Given the description of an element on the screen output the (x, y) to click on. 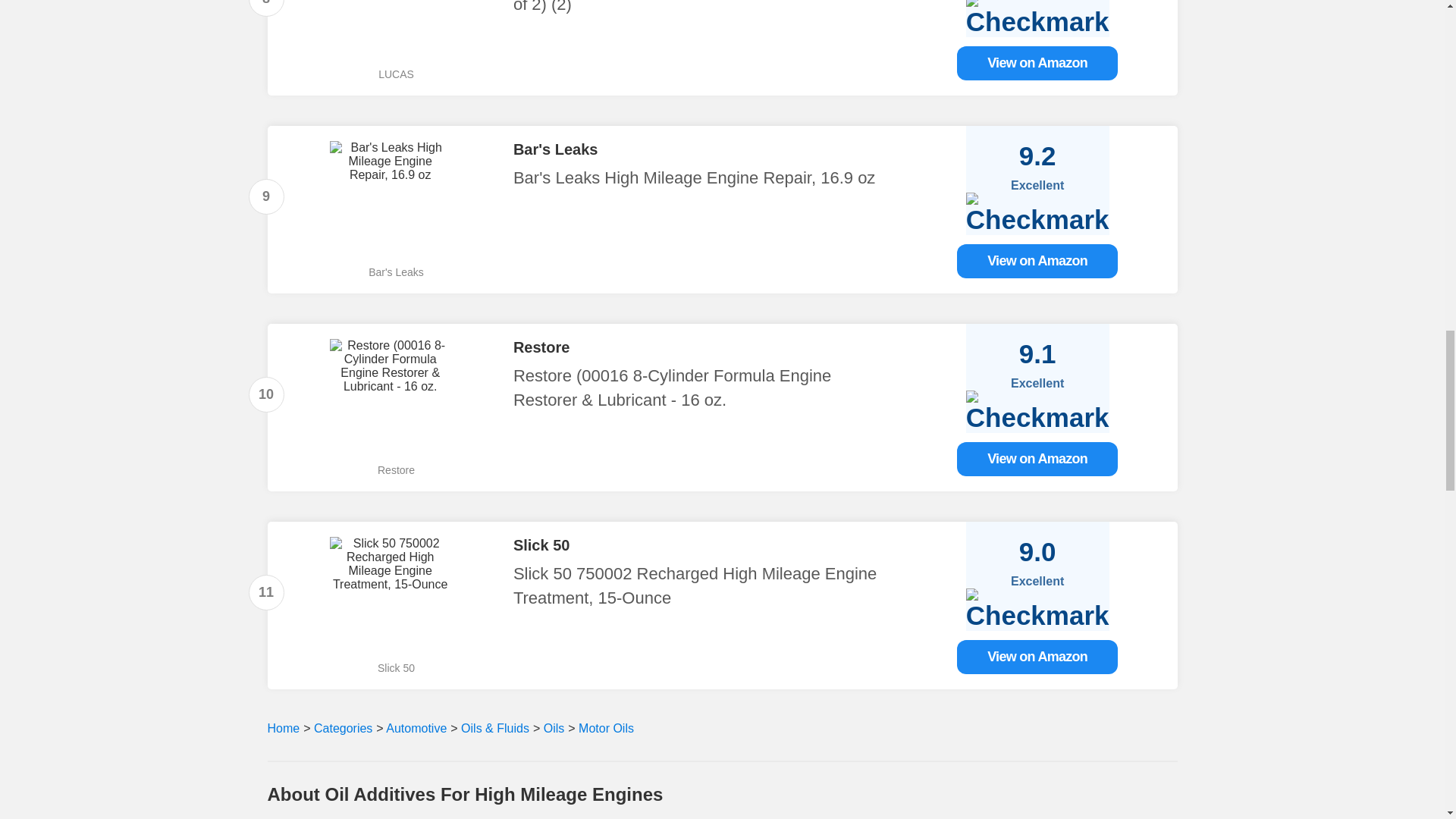
Categories (343, 727)
Home (282, 727)
Automotive (415, 727)
Motor Oils (604, 727)
Oils (553, 727)
